Given the description of an element on the screen output the (x, y) to click on. 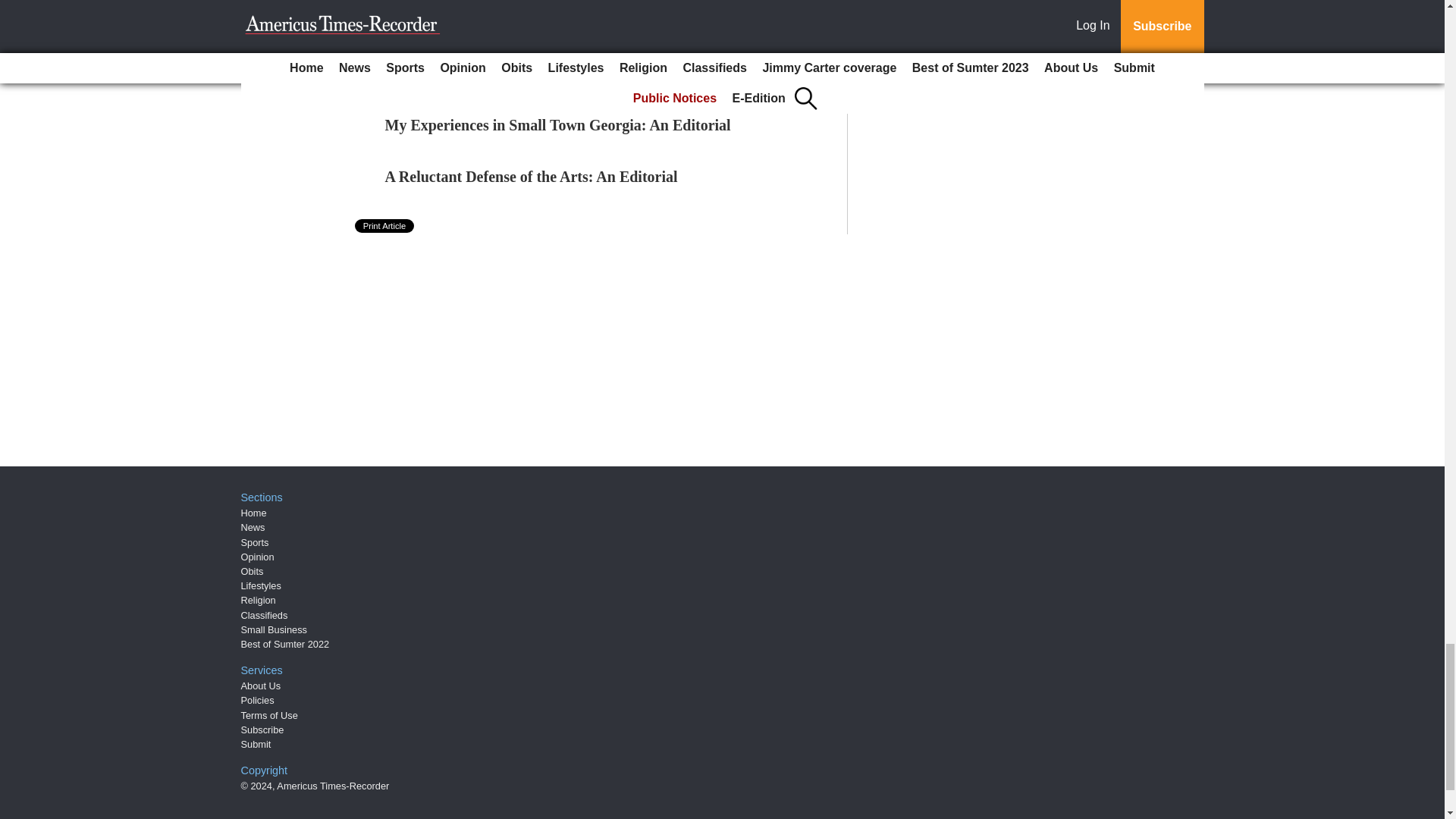
Opinion (258, 556)
Obits (252, 571)
A Reluctant Defense of the Arts: An Editorial (531, 176)
News (252, 527)
Sports (255, 542)
My Experiences in Small Town Georgia: An Editorial (557, 125)
A Reluctant Defense of the Arts: An Editorial (531, 176)
My Experiences in Small Town Georgia: An Editorial (557, 125)
Home (253, 512)
Print Article (384, 225)
